Given the description of an element on the screen output the (x, y) to click on. 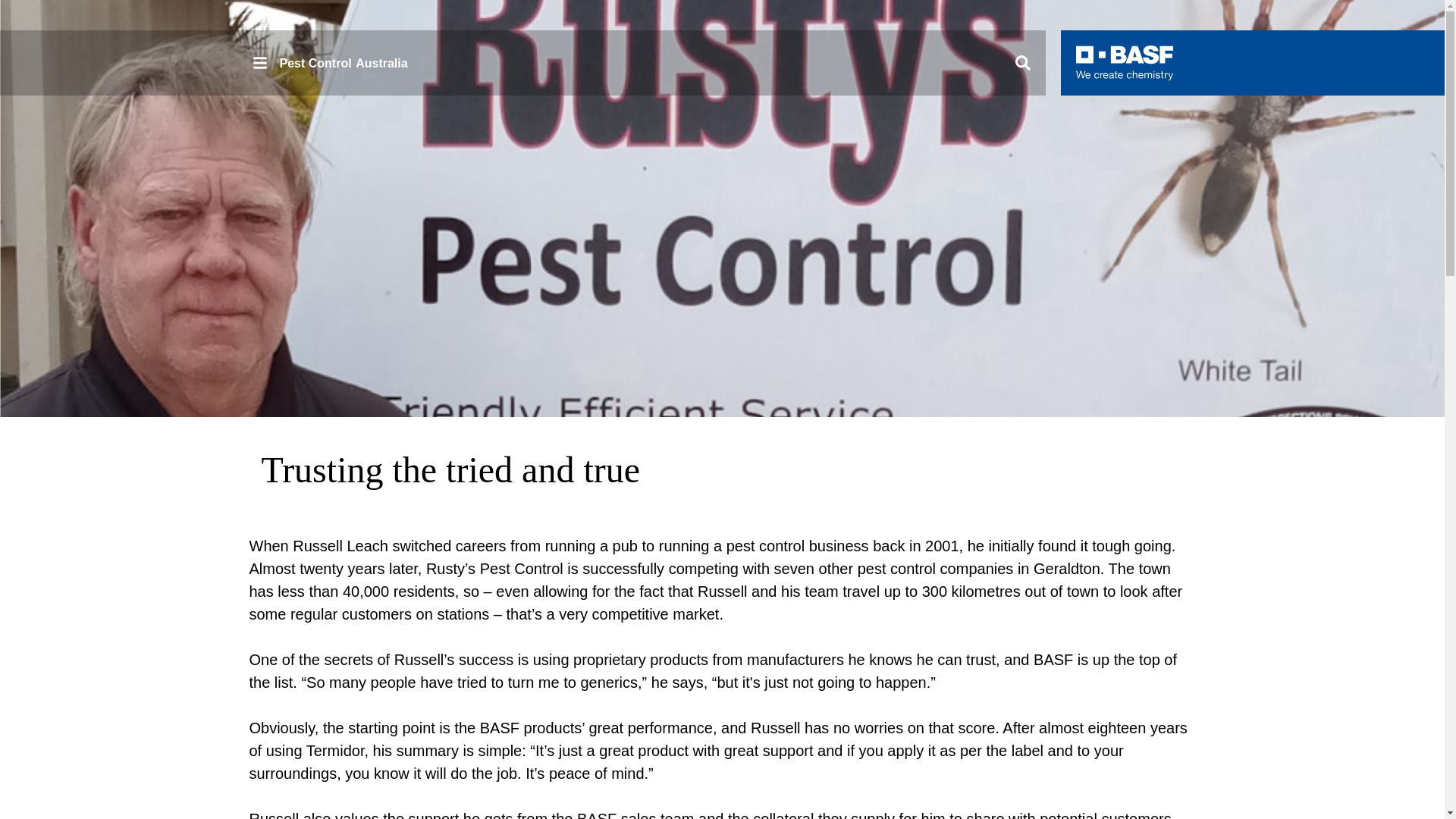
Home (1124, 62)
Pest Control Australia (329, 62)
